Given the description of an element on the screen output the (x, y) to click on. 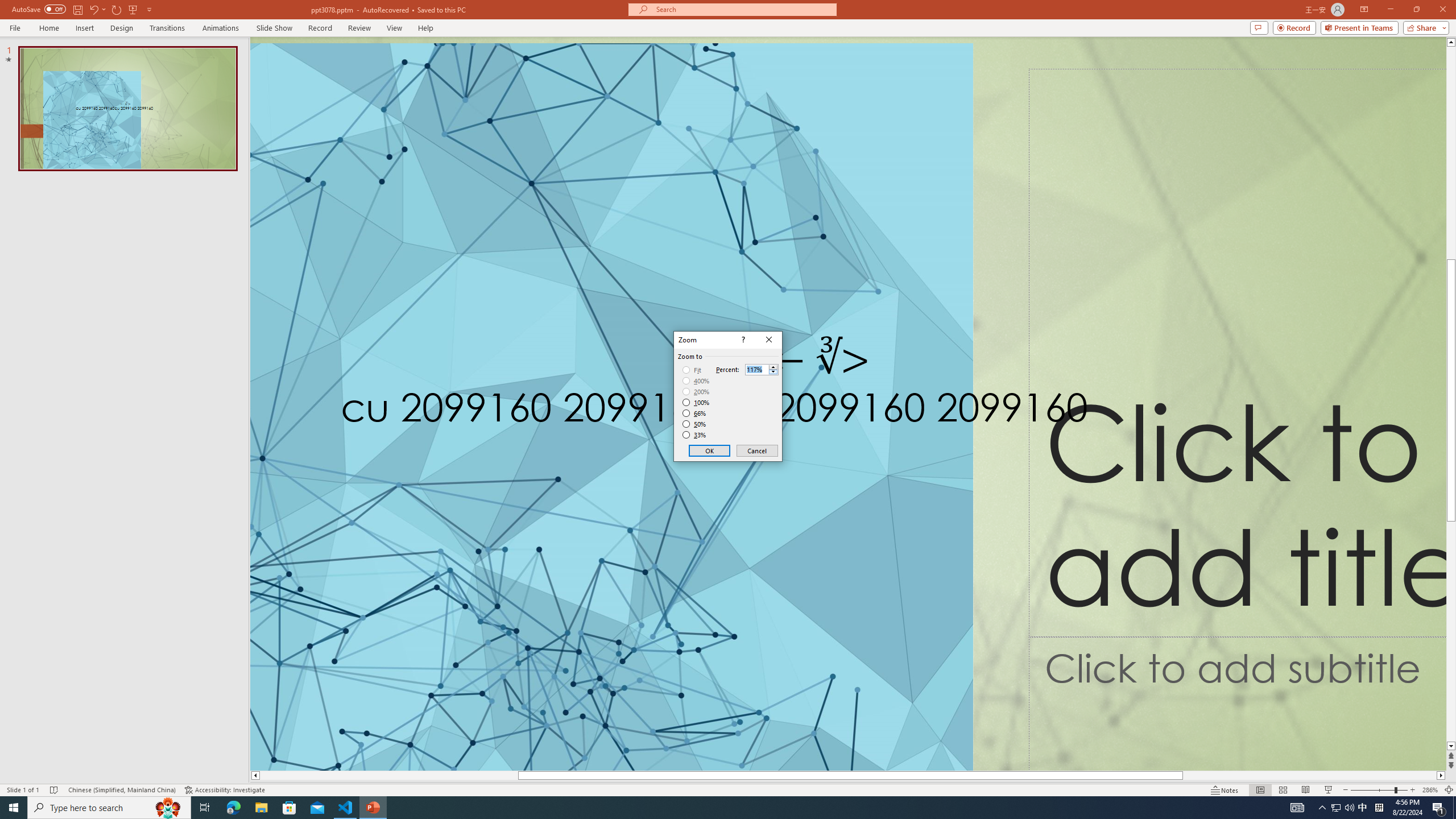
66% (694, 412)
Context help (742, 339)
200% (696, 391)
